Given the description of an element on the screen output the (x, y) to click on. 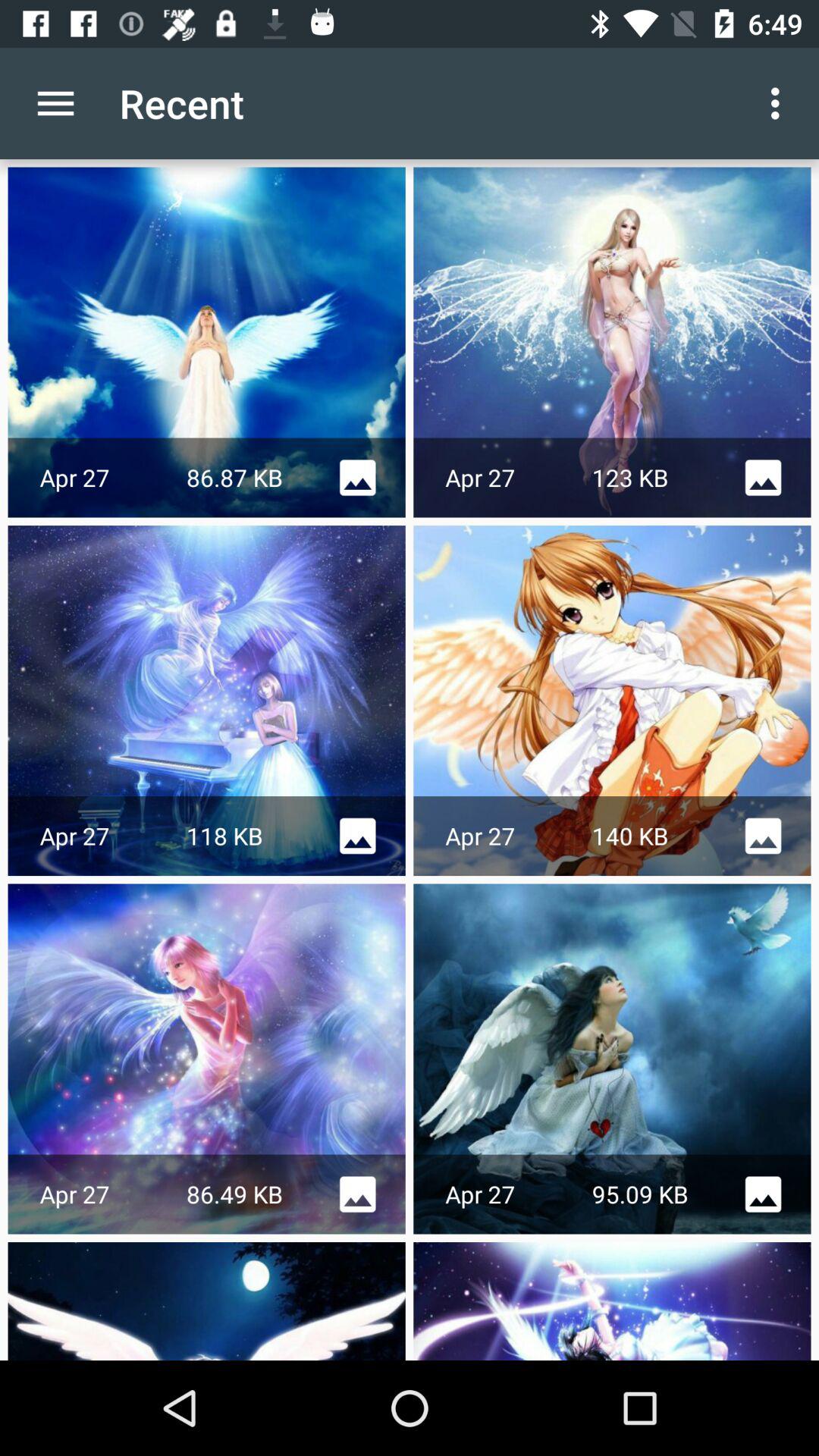
choose the icon next to recent app (55, 103)
